Given the description of an element on the screen output the (x, y) to click on. 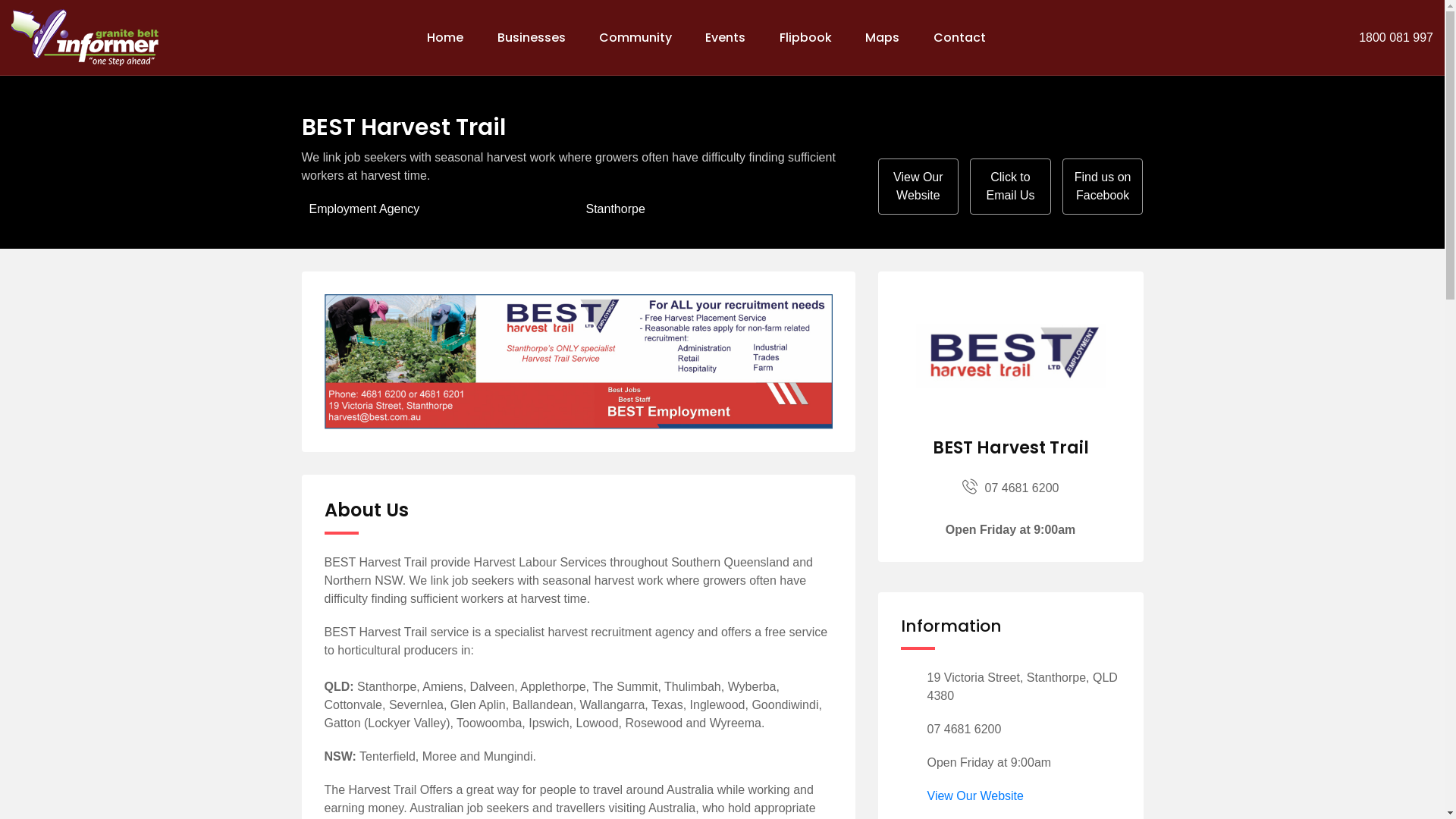
View Our Website Element type: text (918, 186)
Click to Email Us Element type: text (1010, 186)
Find us on Facebook Element type: text (1102, 186)
View Our Website Element type: text (974, 795)
